Given the description of an element on the screen output the (x, y) to click on. 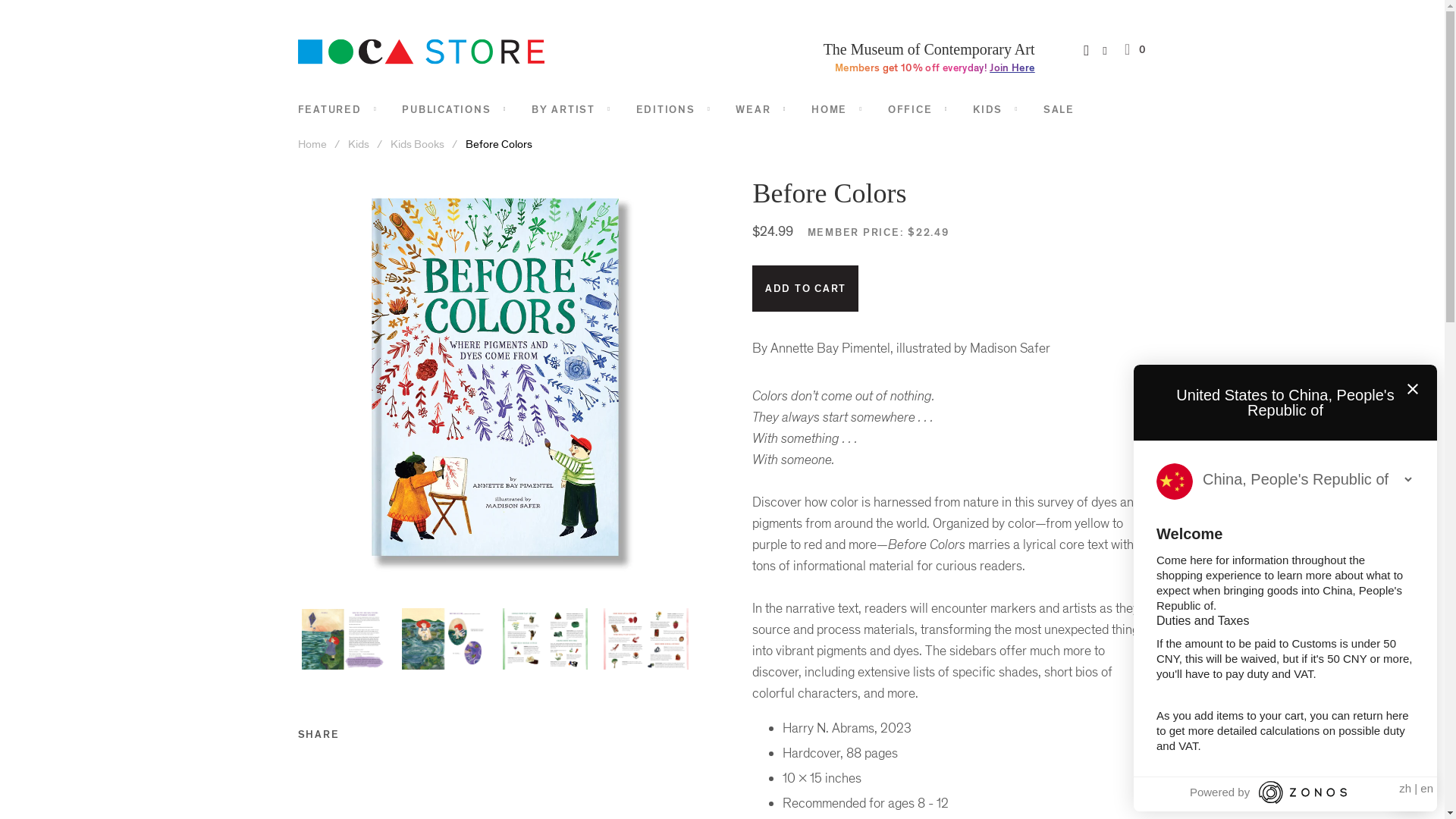
Select your country (1306, 479)
MOCA Store (313, 144)
Add to Cart (805, 288)
Open Zonos Hello (1411, 791)
